Given the description of an element on the screen output the (x, y) to click on. 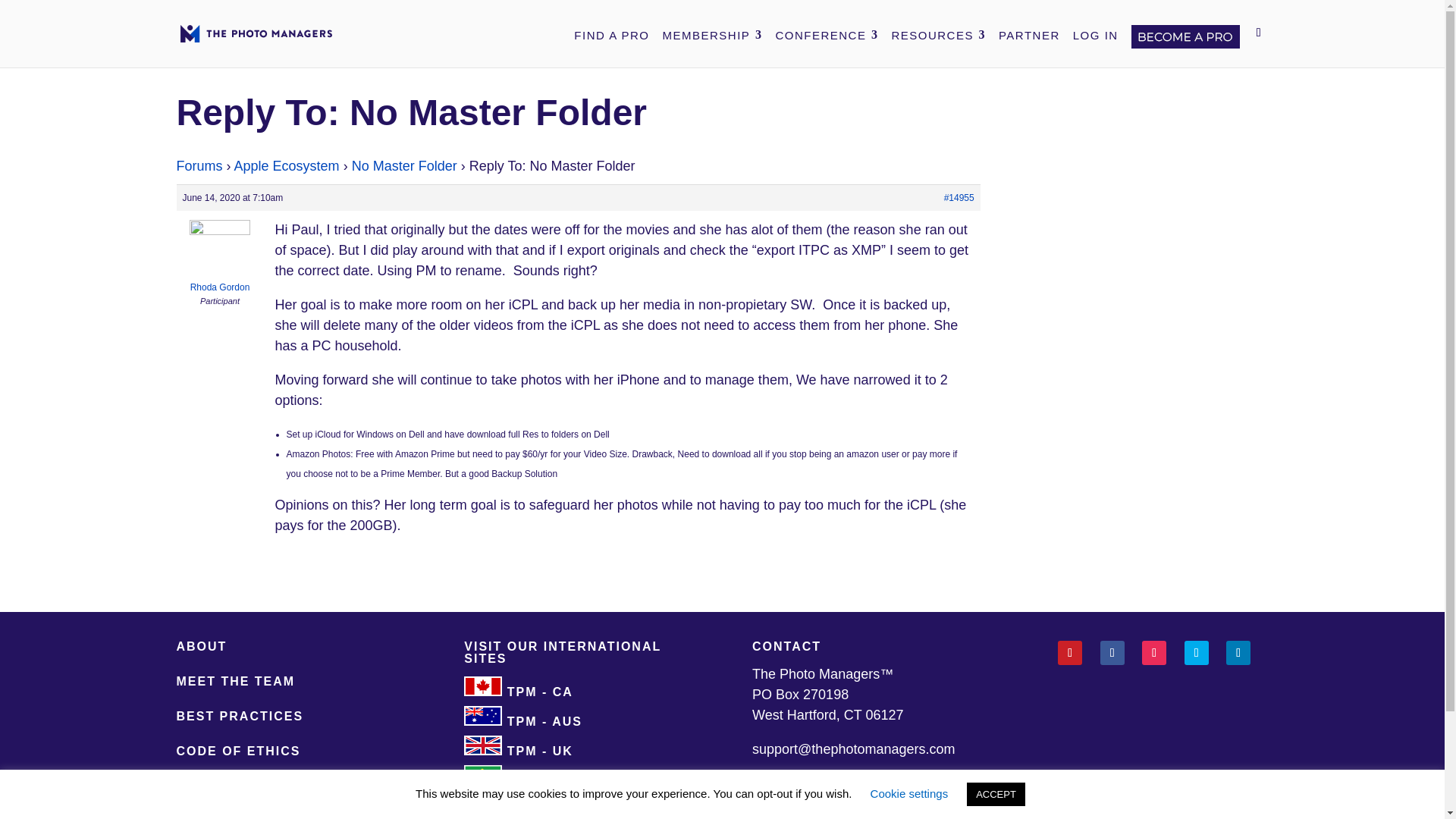
Follow on Twitter (1196, 652)
MEMBERSHIP (712, 35)
Follow on LinkedIn (1237, 652)
FIND A PRO (611, 35)
View Rhoda Gordon's profile (219, 260)
Follow on Instagram (1153, 652)
Follow on Pinterest (1069, 652)
Follow on Facebook (1112, 652)
CONFERENCE (825, 35)
PARTNER (1028, 35)
